Given the description of an element on the screen output the (x, y) to click on. 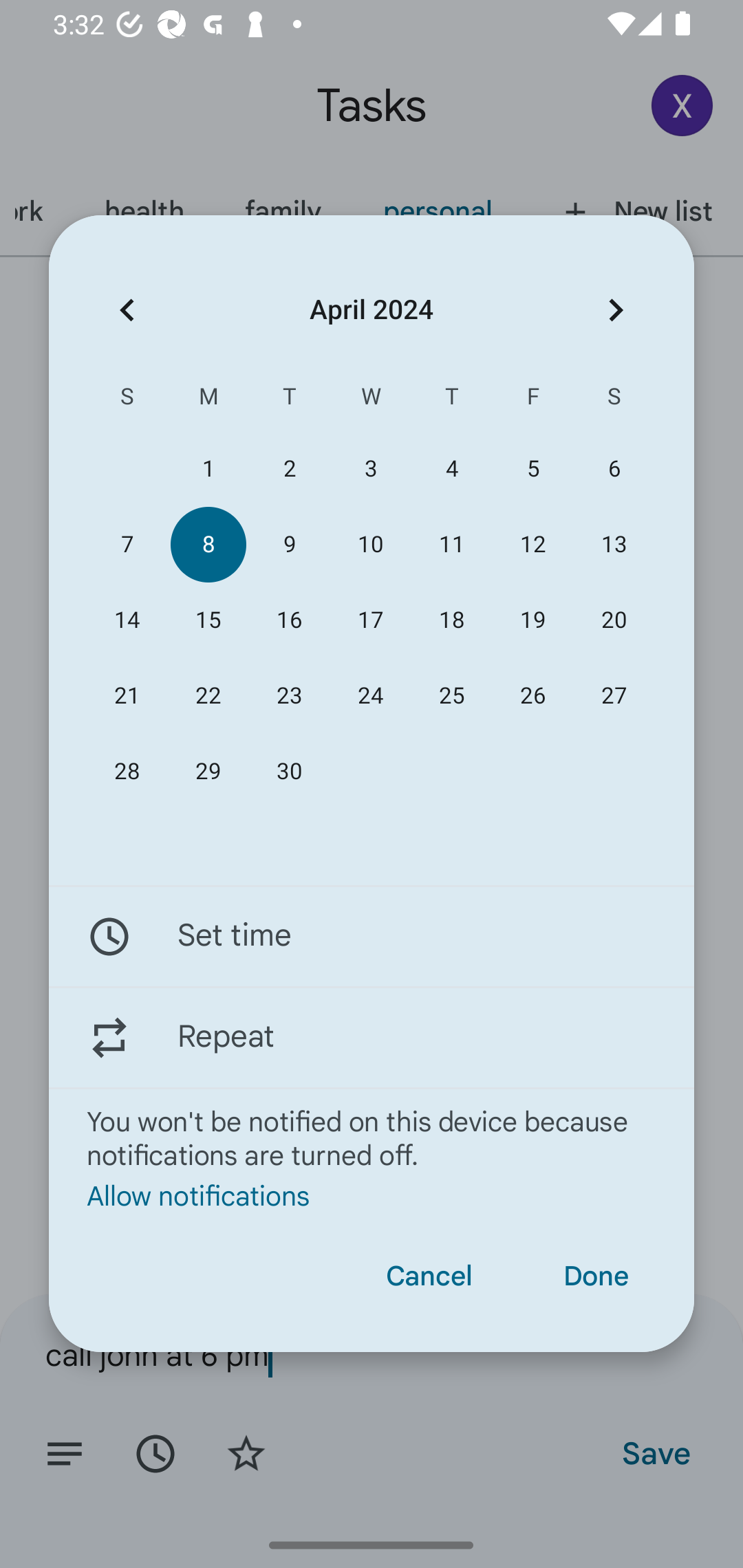
Previous month (126, 309)
Next month (615, 309)
1 01 April 2024 (207, 468)
2 02 April 2024 (288, 468)
3 03 April 2024 (370, 468)
4 04 April 2024 (451, 468)
5 05 April 2024 (532, 468)
6 06 April 2024 (613, 468)
7 07 April 2024 (126, 543)
8 08 April 2024 (207, 543)
9 09 April 2024 (288, 543)
10 10 April 2024 (370, 543)
11 11 April 2024 (451, 543)
12 12 April 2024 (532, 543)
13 13 April 2024 (613, 543)
14 14 April 2024 (126, 619)
15 15 April 2024 (207, 619)
16 16 April 2024 (288, 619)
17 17 April 2024 (370, 619)
18 18 April 2024 (451, 619)
19 19 April 2024 (532, 619)
20 20 April 2024 (613, 619)
21 21 April 2024 (126, 695)
22 22 April 2024 (207, 695)
23 23 April 2024 (288, 695)
24 24 April 2024 (370, 695)
25 25 April 2024 (451, 695)
26 26 April 2024 (532, 695)
27 27 April 2024 (613, 695)
28 28 April 2024 (126, 771)
29 29 April 2024 (207, 771)
30 30 April 2024 (288, 771)
Set time (371, 936)
Repeat (371, 1036)
Allow notifications (371, 1195)
Cancel (429, 1275)
Done (595, 1275)
